Given the description of an element on the screen output the (x, y) to click on. 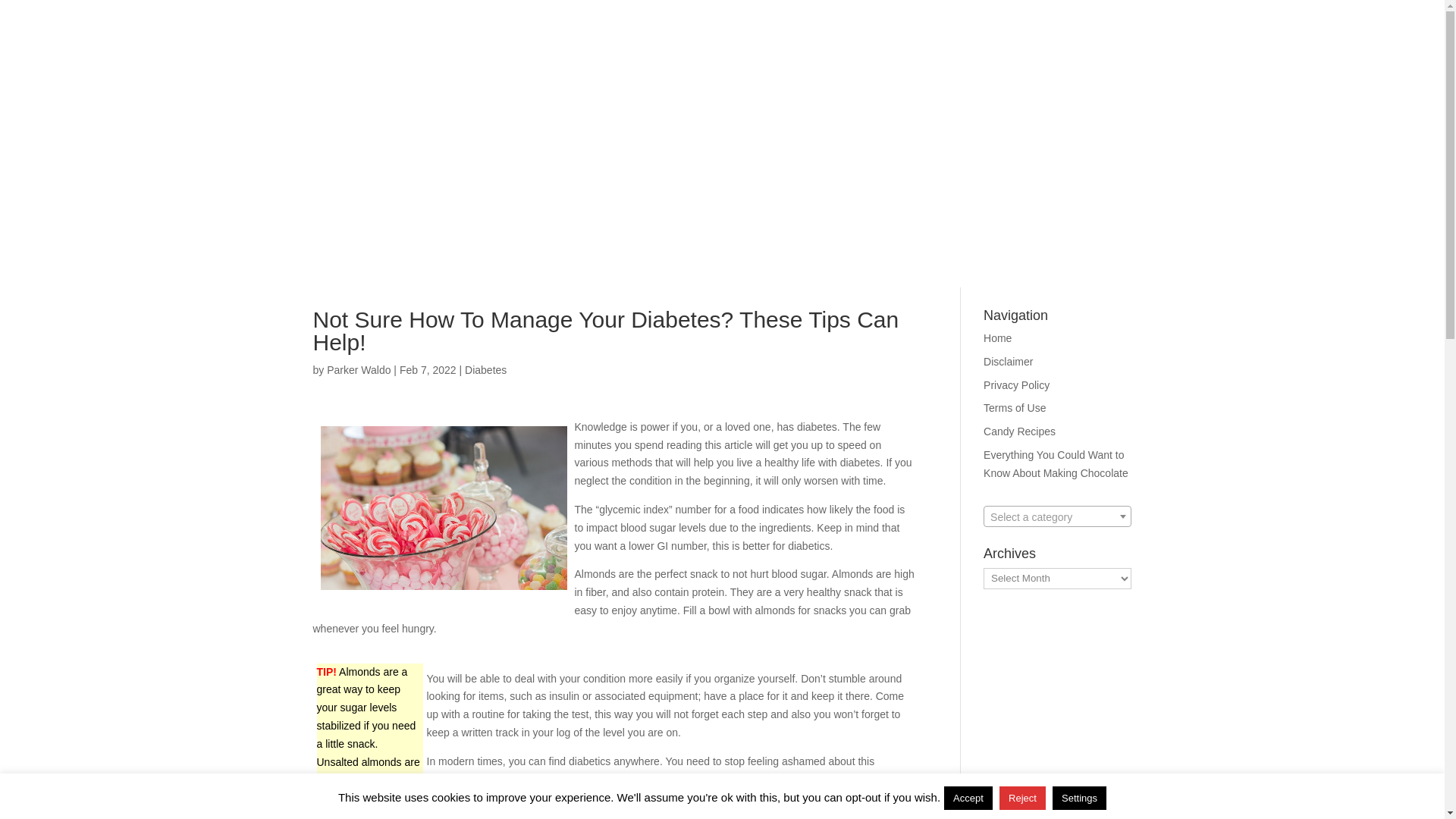
Candy Recipes (1019, 431)
Settings (1079, 797)
Everything You Could Want to Know About Making Chocolate (1056, 463)
Privacy Policy (1016, 385)
Accept (967, 797)
Posts by Parker Waldo (358, 369)
Terms of Use (1014, 408)
Disclaimer (1008, 361)
Reject (1021, 797)
Home (997, 337)
